Given the description of an element on the screen output the (x, y) to click on. 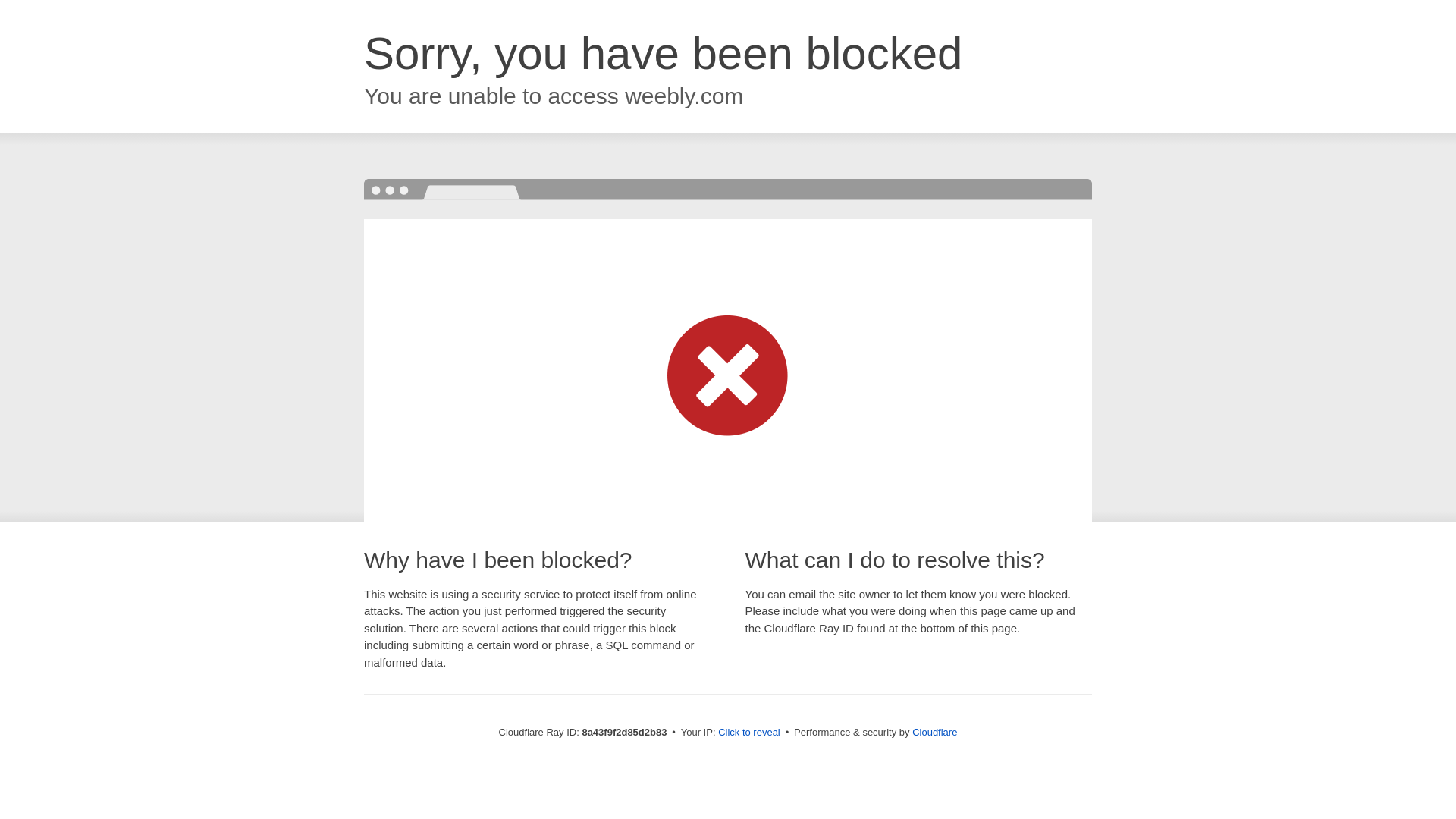
Cloudflare (934, 731)
Click to reveal (748, 732)
